Given the description of an element on the screen output the (x, y) to click on. 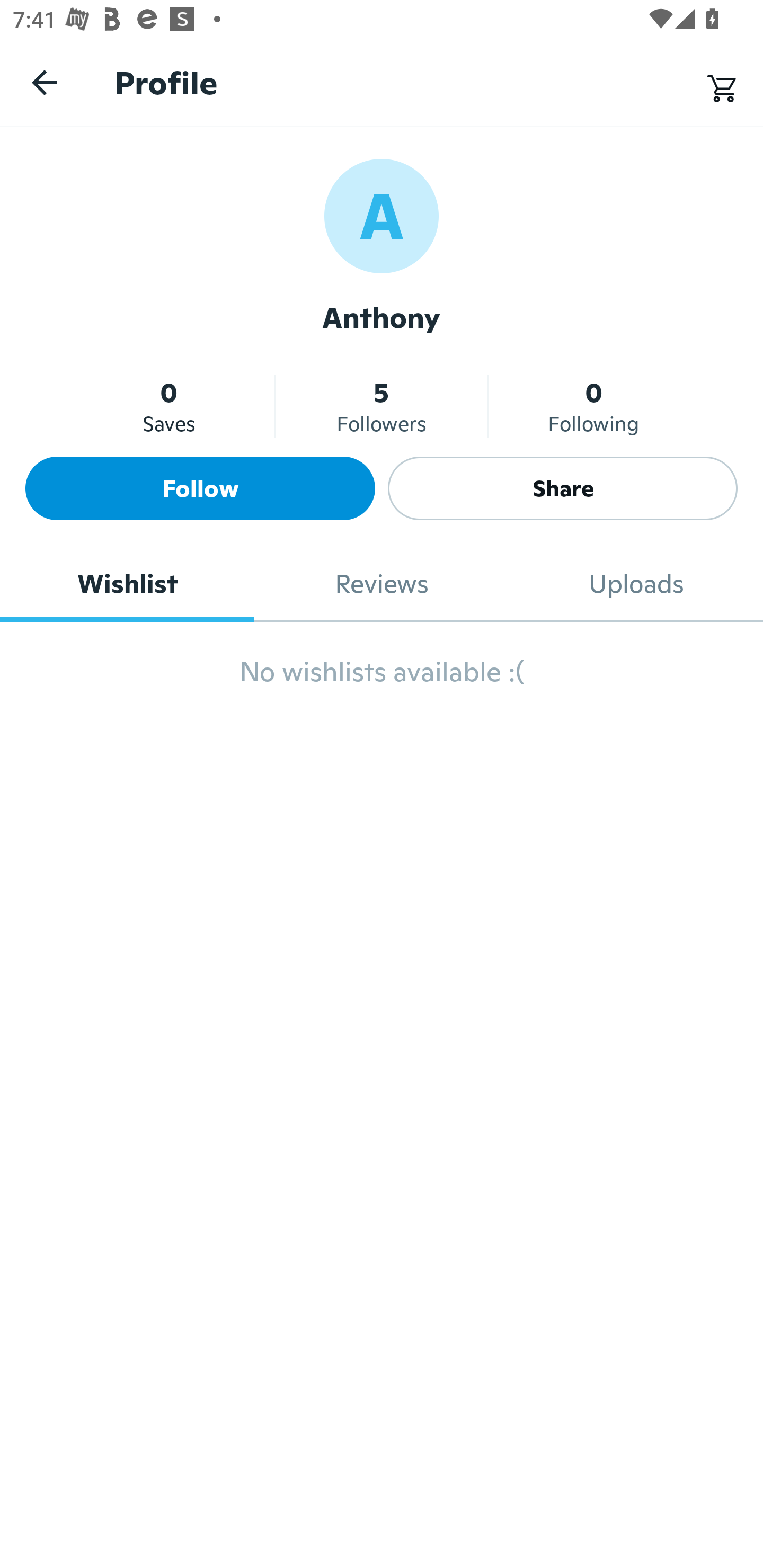
Navigate up (44, 82)
A (381, 215)
5 Followers (381, 405)
0 Following (593, 405)
Follow (200, 488)
Share (562, 488)
Wishlist (127, 583)
Reviews (381, 583)
Uploads (635, 583)
No wishlists available :( (381, 679)
